Given the description of an element on the screen output the (x, y) to click on. 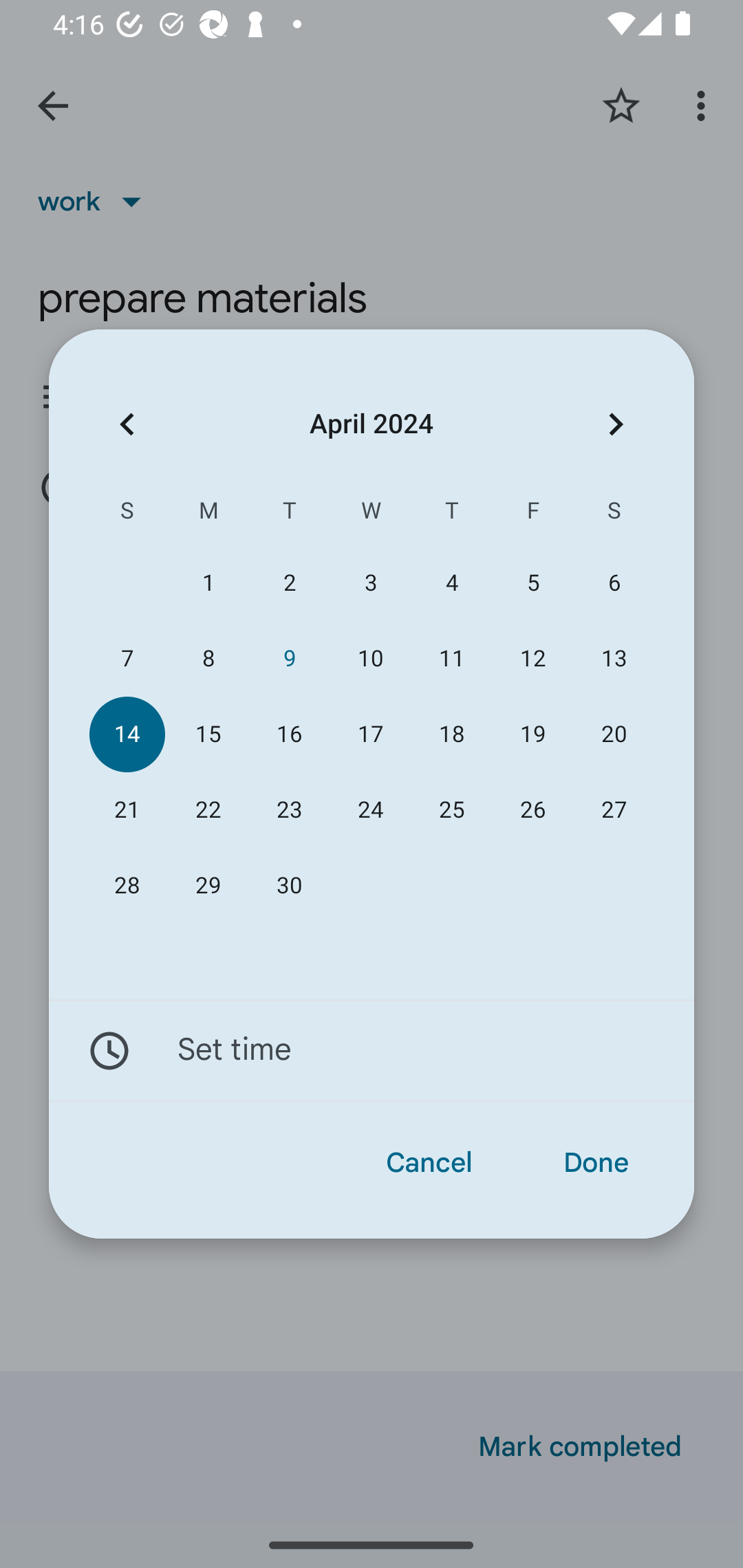
Previous month (126, 424)
Next month (615, 424)
1 01 April 2024 (207, 582)
2 02 April 2024 (288, 582)
3 03 April 2024 (370, 582)
4 04 April 2024 (451, 582)
5 05 April 2024 (532, 582)
6 06 April 2024 (613, 582)
7 07 April 2024 (126, 658)
8 08 April 2024 (207, 658)
9 09 April 2024 (288, 658)
10 10 April 2024 (370, 658)
11 11 April 2024 (451, 658)
12 12 April 2024 (532, 658)
13 13 April 2024 (613, 658)
14 14 April 2024 (126, 734)
15 15 April 2024 (207, 734)
16 16 April 2024 (288, 734)
17 17 April 2024 (370, 734)
18 18 April 2024 (451, 734)
19 19 April 2024 (532, 734)
20 20 April 2024 (613, 734)
21 21 April 2024 (126, 810)
22 22 April 2024 (207, 810)
23 23 April 2024 (288, 810)
24 24 April 2024 (370, 810)
25 25 April 2024 (451, 810)
26 26 April 2024 (532, 810)
27 27 April 2024 (613, 810)
28 28 April 2024 (126, 885)
29 29 April 2024 (207, 885)
30 30 April 2024 (288, 885)
Set time (371, 1050)
Cancel (429, 1162)
Done (595, 1162)
